Given the description of an element on the screen output the (x, y) to click on. 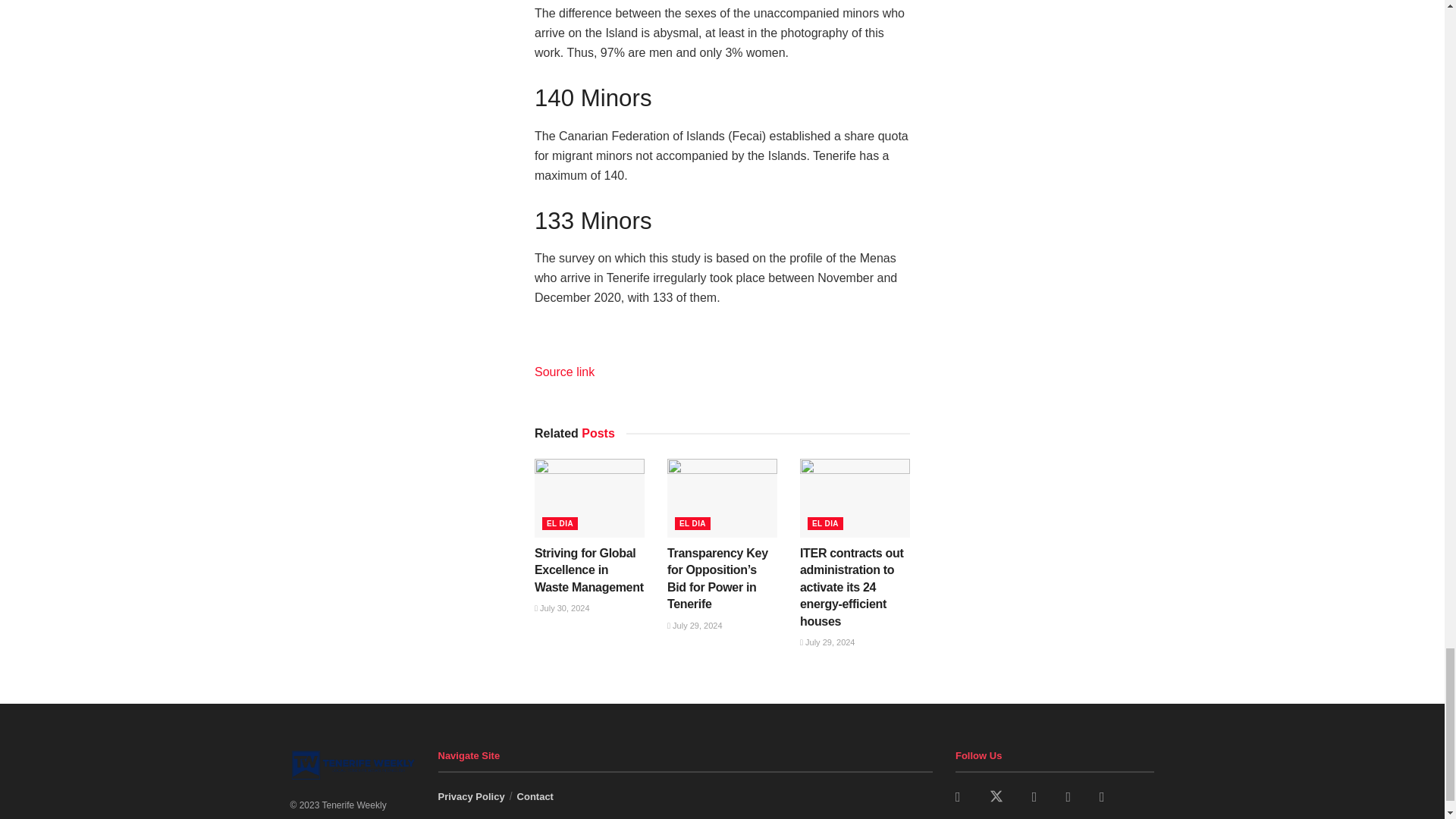
Source link (571, 371)
